Given the description of an element on the screen output the (x, y) to click on. 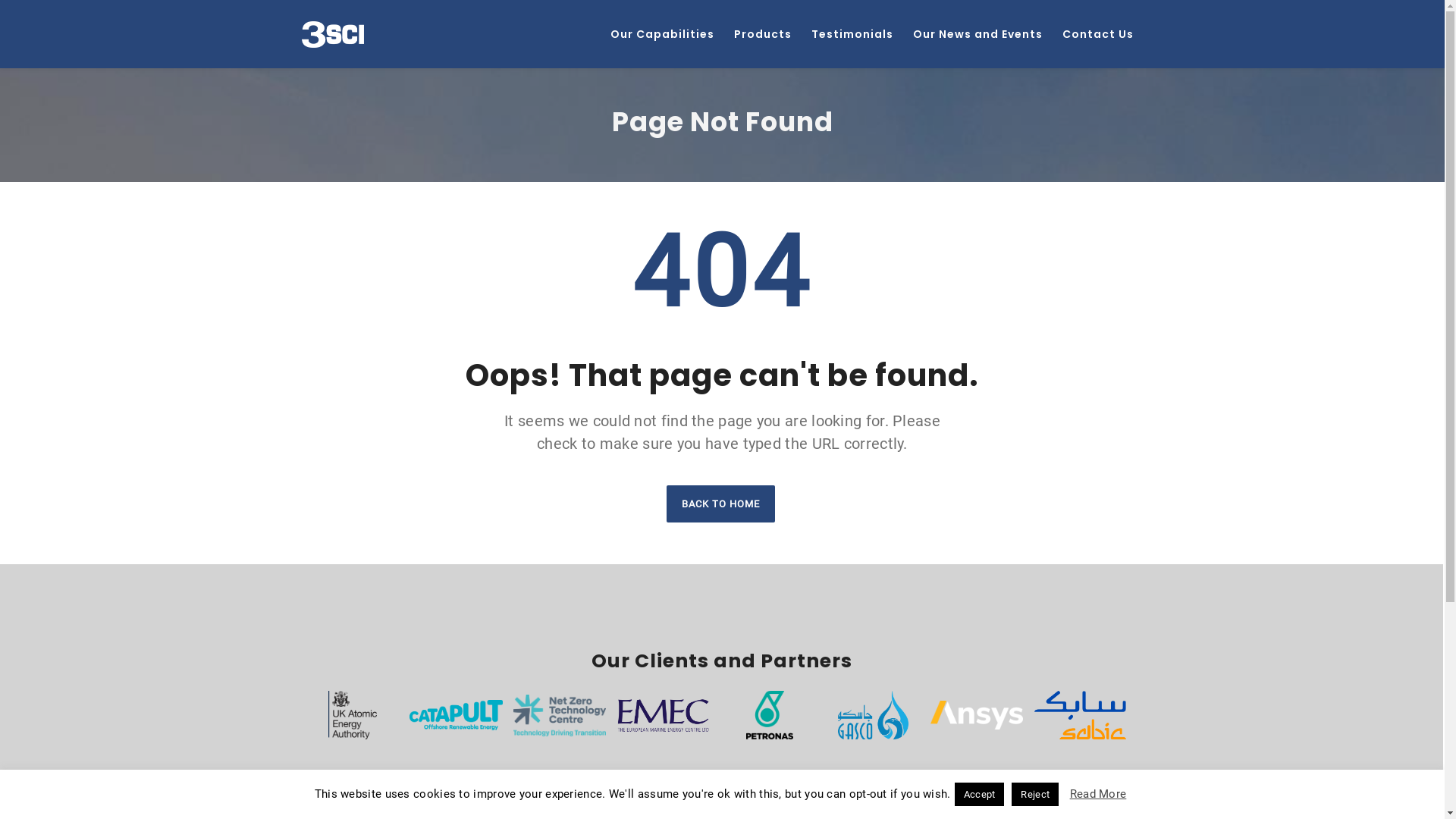
Our News and Events Element type: text (976, 34)
Our Capabilities Element type: text (662, 34)
Read More Element type: text (1098, 793)
Reject Element type: text (1034, 794)
Contact Us Element type: text (1097, 34)
Accept Element type: text (979, 794)
Testimonials Element type: text (851, 34)
BACK TO HOME Element type: text (719, 503)
Products Element type: text (761, 34)
